Given the description of an element on the screen output the (x, y) to click on. 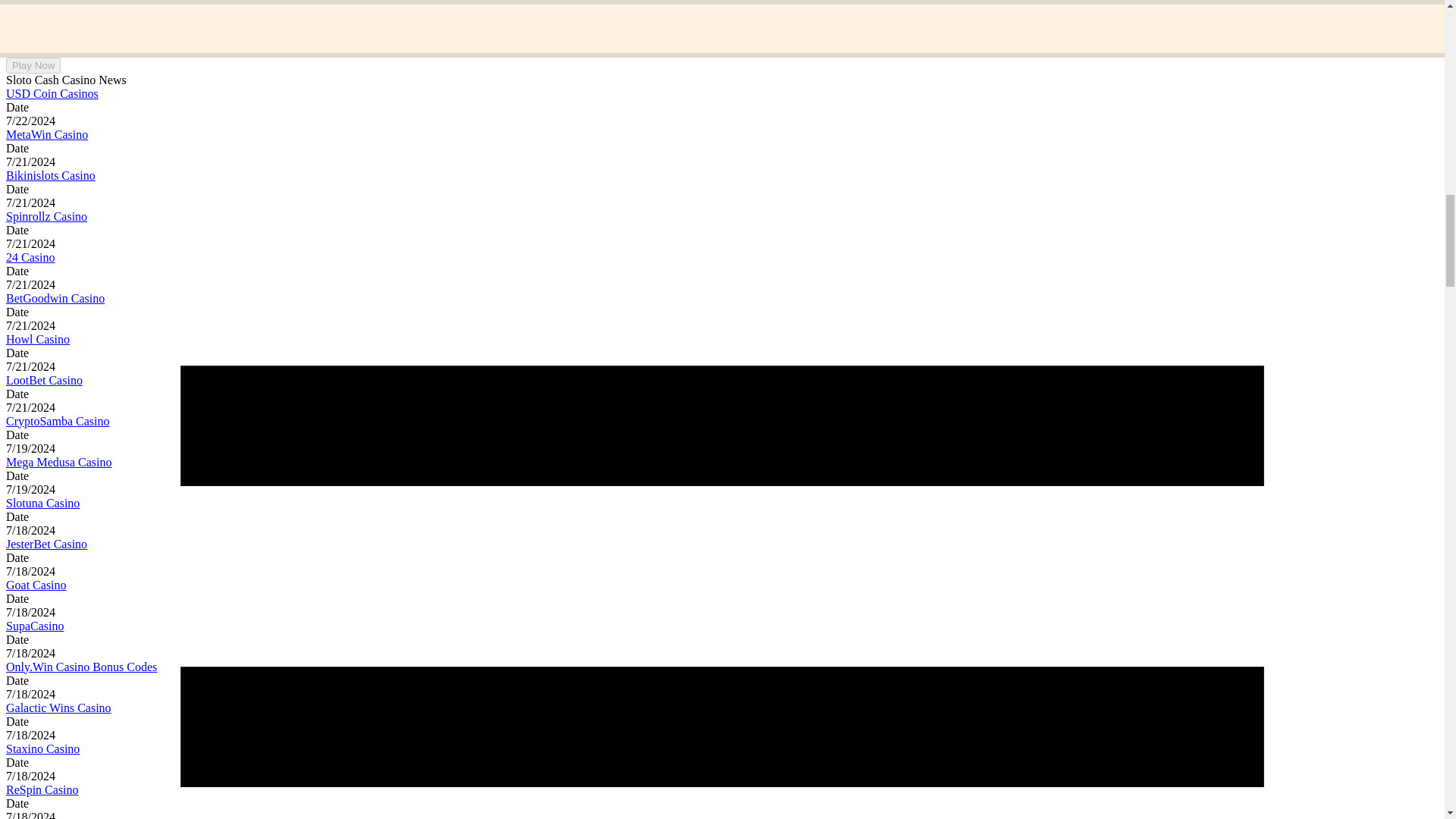
Slotuna Casino (42, 502)
MetaWin Casino (46, 133)
SupaCasino (34, 625)
Play Now (33, 65)
Spinrollz Casino (46, 215)
Mega Medusa Casino (58, 461)
LootBet Casino (43, 379)
ReSpin Casino (41, 789)
CryptoSamba Casino (57, 420)
BetGoodwin Casino (54, 297)
24 Casino (30, 256)
JesterBet Casino (46, 543)
Galactic Wins Casino (58, 707)
Bikinislots Casino (50, 174)
Howl Casino (37, 338)
